Given the description of an element on the screen output the (x, y) to click on. 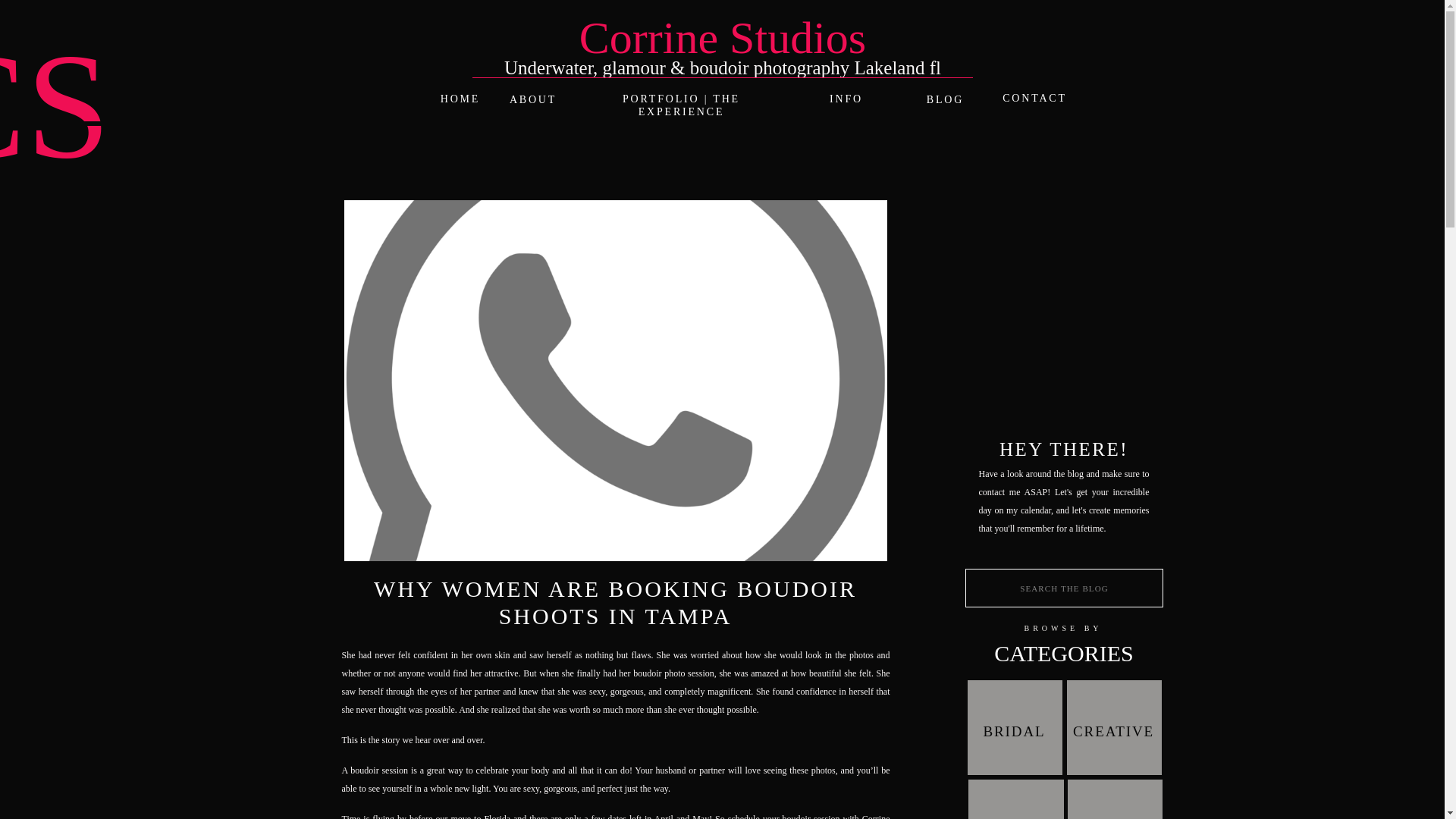
INFO (845, 99)
DESTINATION (1016, 817)
ADVICE (1114, 817)
BRIDAL (1014, 727)
ABOUT (533, 98)
BLOG (945, 100)
HOME (460, 98)
CONTACT (1034, 98)
CREATIVE (1112, 729)
